Given the description of an element on the screen output the (x, y) to click on. 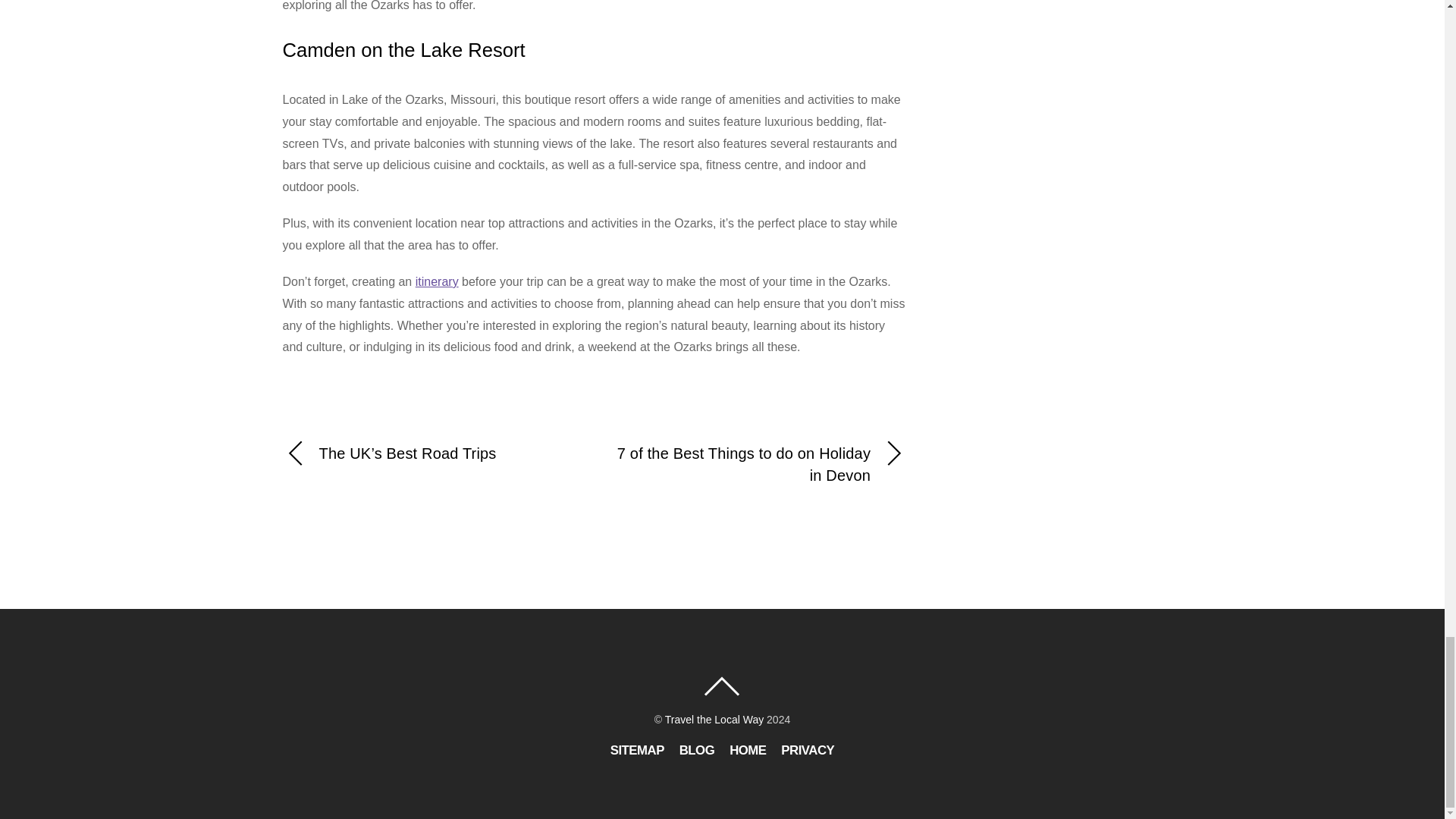
itinerary (436, 281)
7 of the Best Things to do on Holiday in Devon (759, 464)
